Given the description of an element on the screen output the (x, y) to click on. 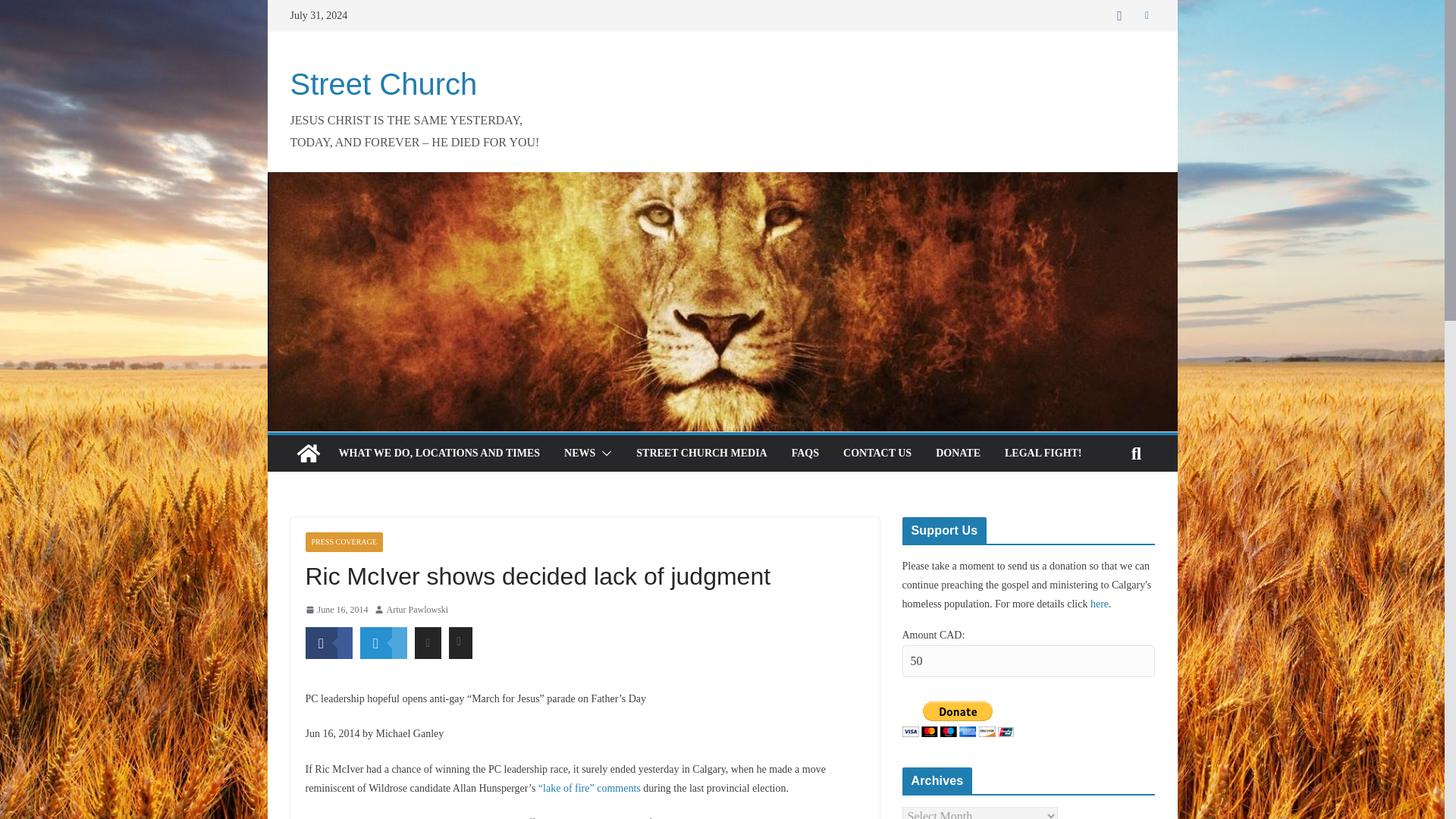
Artur Pawlowski (417, 610)
Street Church (307, 452)
LEGAL FIGHT! (1042, 453)
12:00 am (336, 610)
WHAT WE DO, LOCATIONS AND TIMES (438, 453)
50 (1028, 661)
CONTACT US (877, 453)
Street Church (383, 83)
DONATE (957, 453)
PRESS COVERAGE (342, 542)
FAQS (805, 453)
Street Church (383, 83)
June 16, 2014 (336, 610)
Artur Pawlowski (417, 610)
STREET CHURCH MEDIA (701, 453)
